Given the description of an element on the screen output the (x, y) to click on. 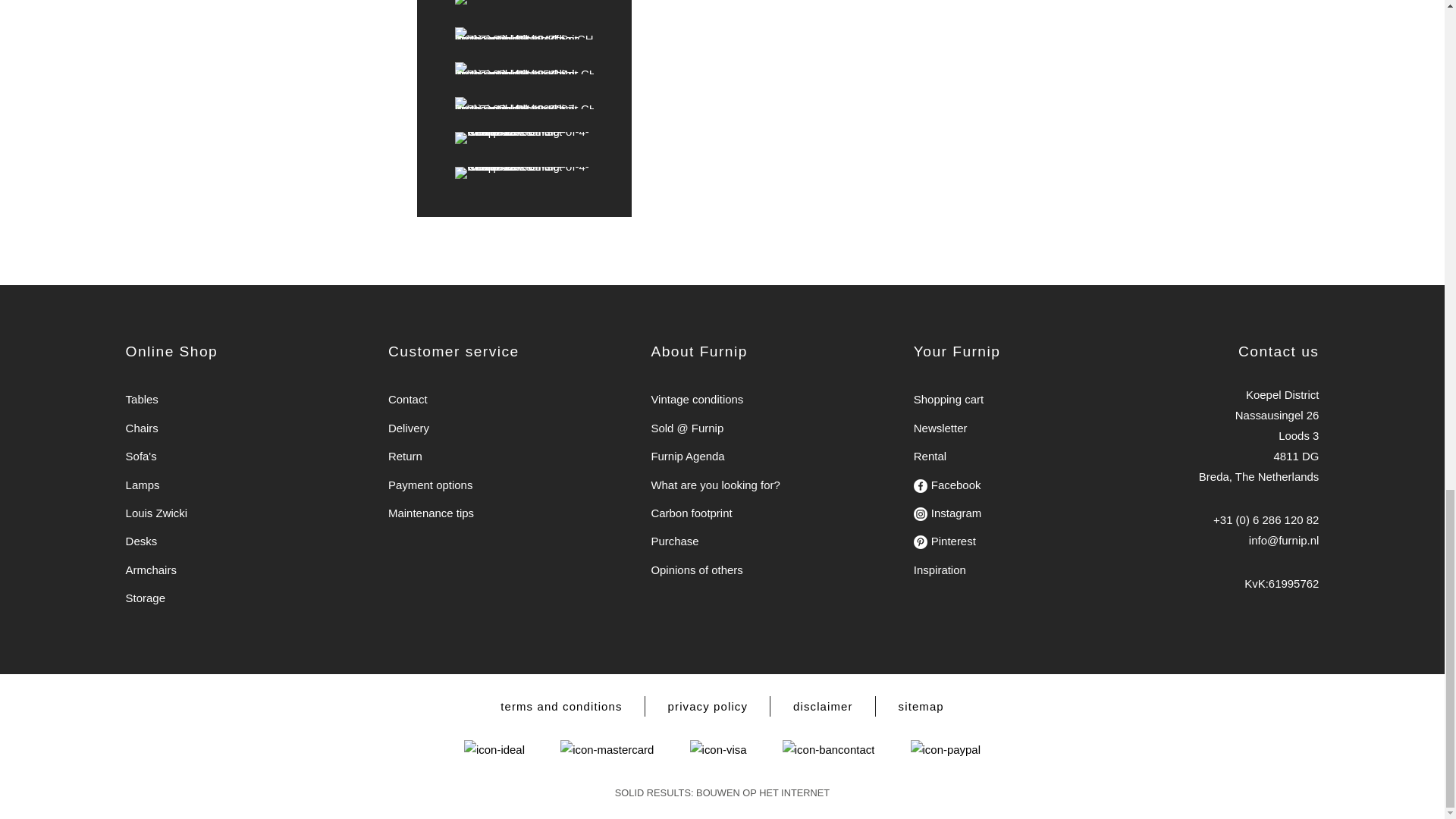
TooBad (714, 484)
